Given the description of an element on the screen output the (x, y) to click on. 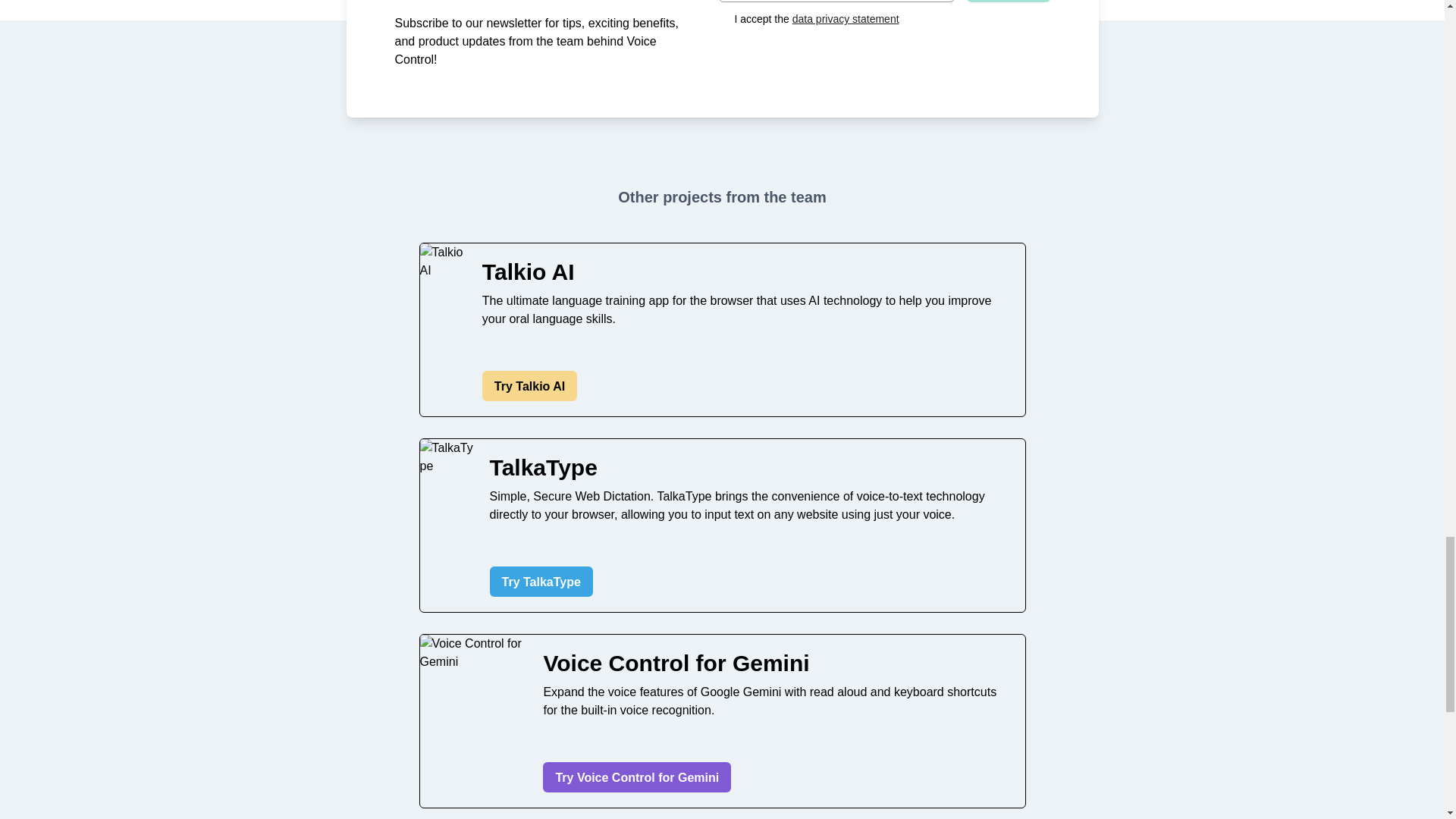
Try TalkaType (540, 581)
Try Talkio AI (528, 386)
data privacy statement (845, 19)
Subscribe (1007, 1)
Try Voice Control for Gemini (636, 777)
